Given the description of an element on the screen output the (x, y) to click on. 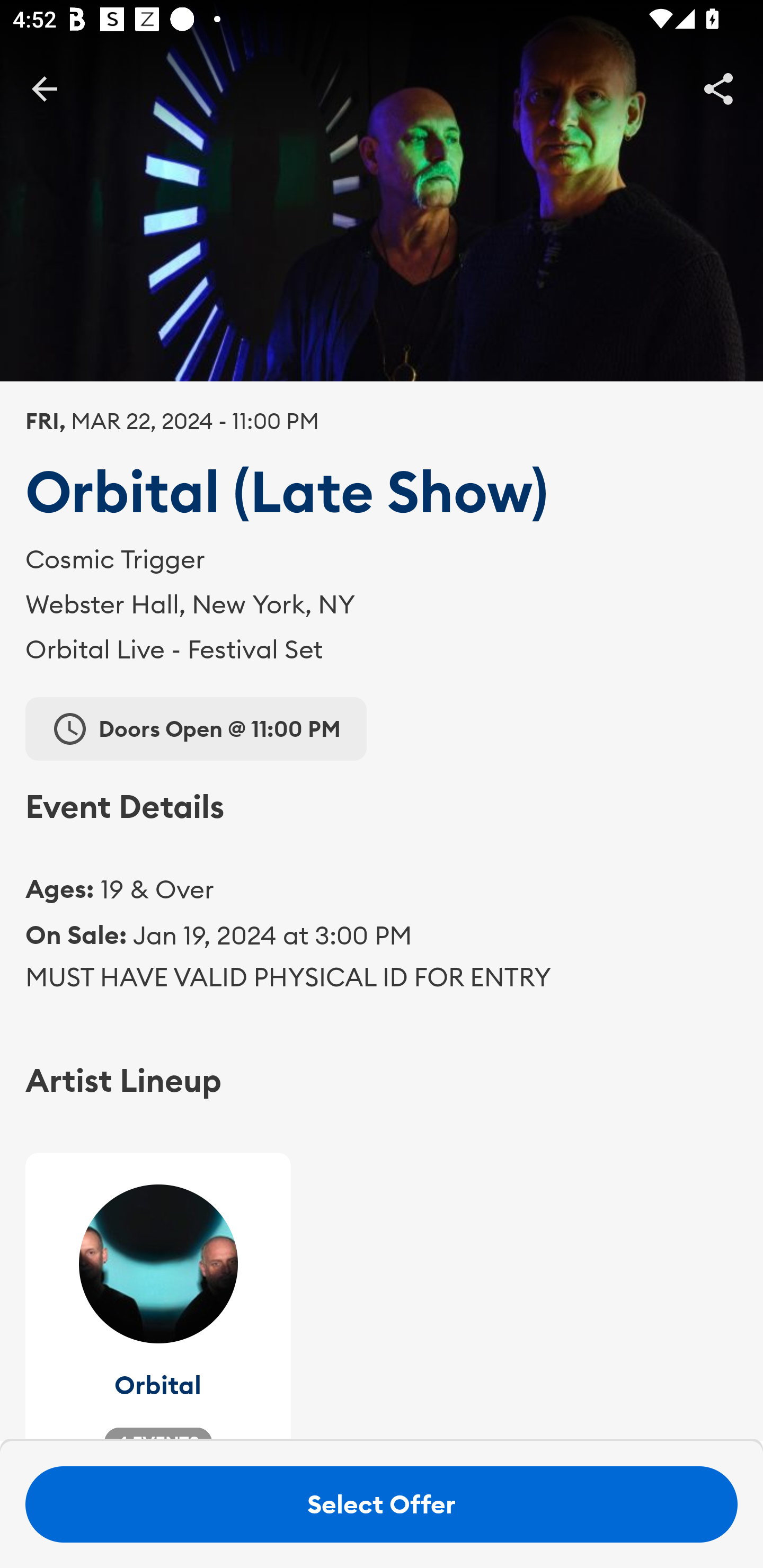
BackButton (44, 88)
Share (718, 88)
Orbital 4 EVENTS (157, 1296)
Select Offer (381, 1504)
